Given the description of an element on the screen output the (x, y) to click on. 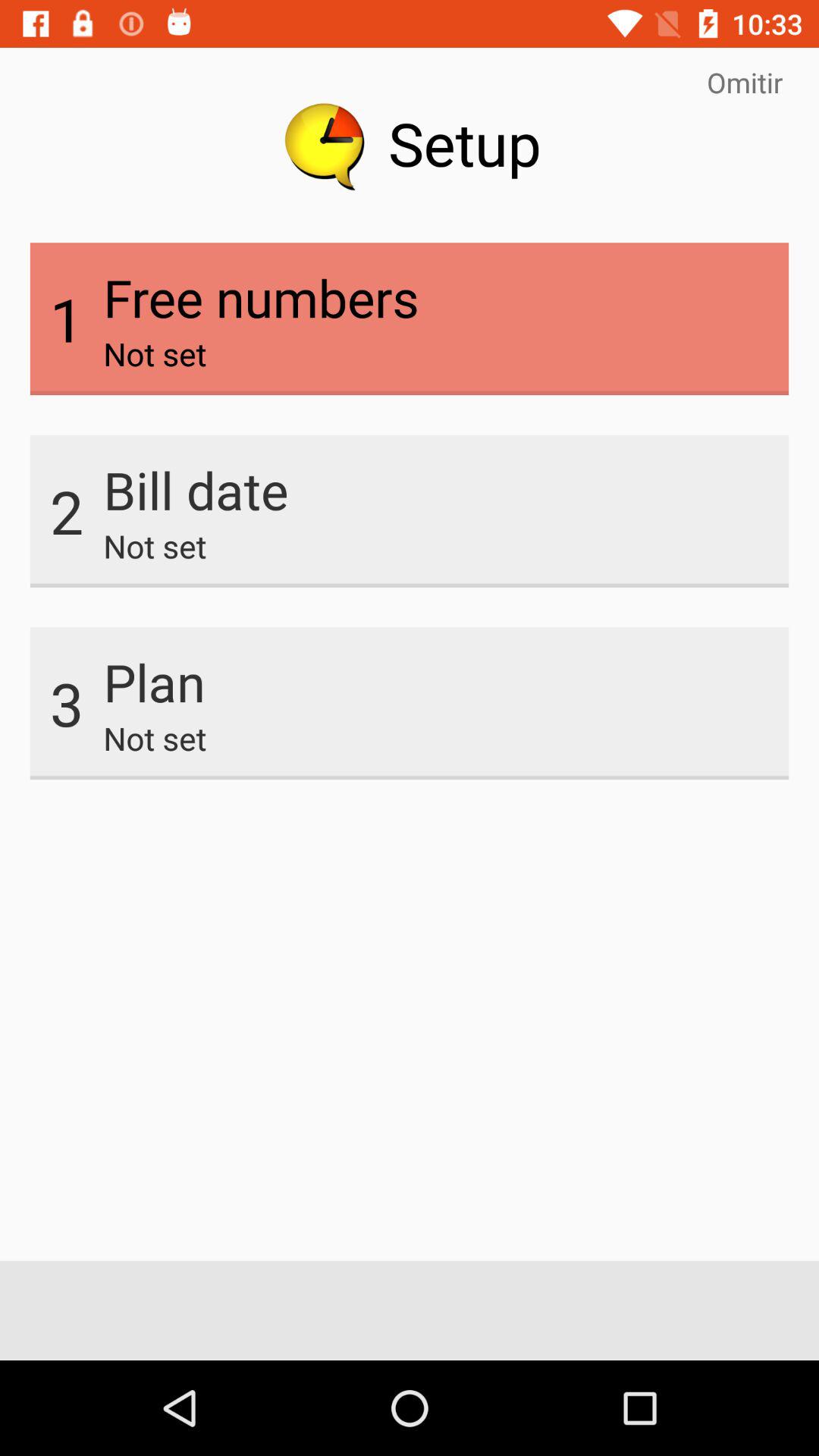
click the icon above free numbers icon (744, 82)
